Given the description of an element on the screen output the (x, y) to click on. 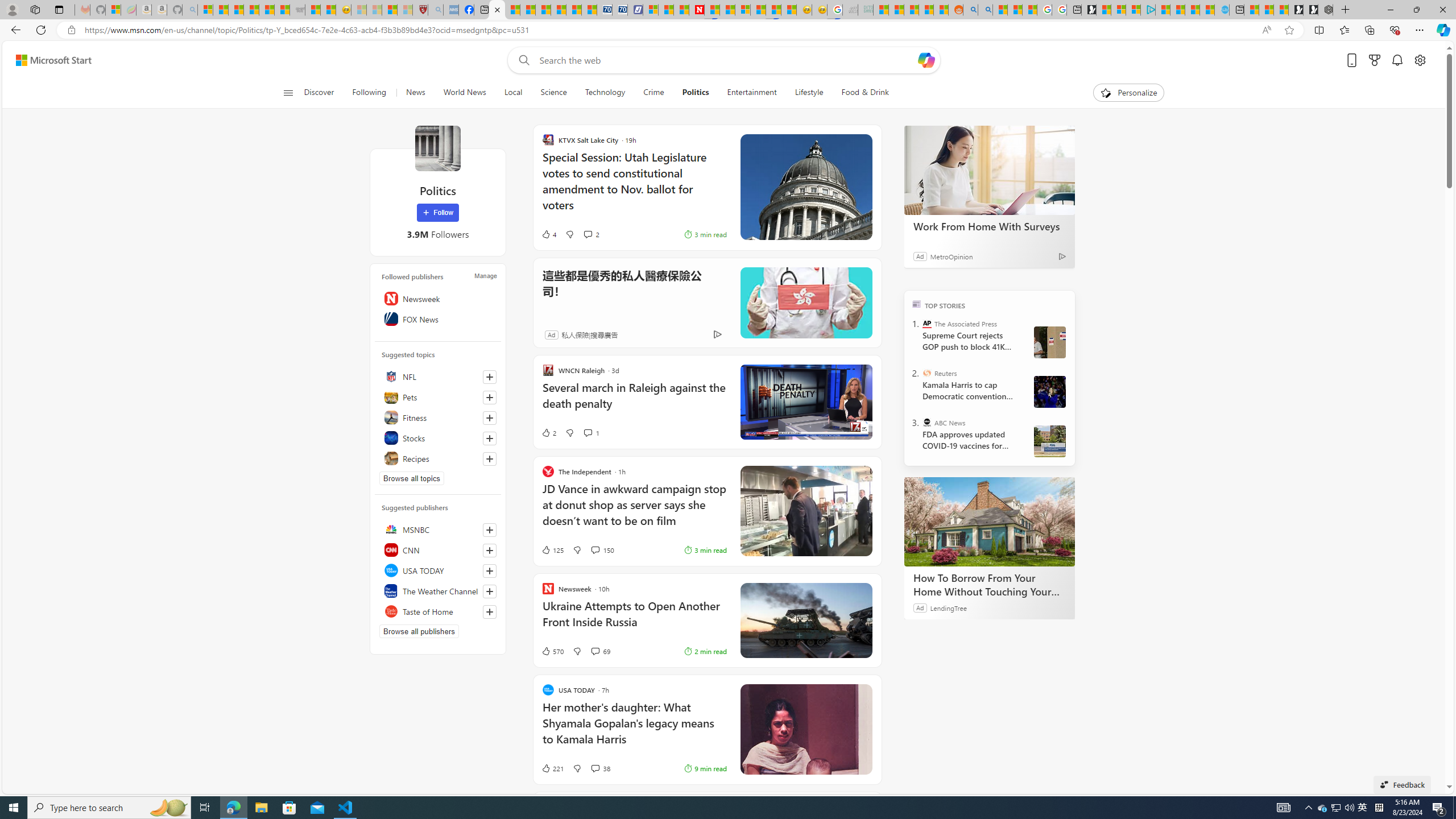
Newsweek (437, 298)
Newsweek - News, Analysis, Politics, Business, Technology (696, 9)
View comments 69 Comment (594, 651)
JD Vance struggles to make small talk while ordering donuts (805, 511)
